Given the description of an element on the screen output the (x, y) to click on. 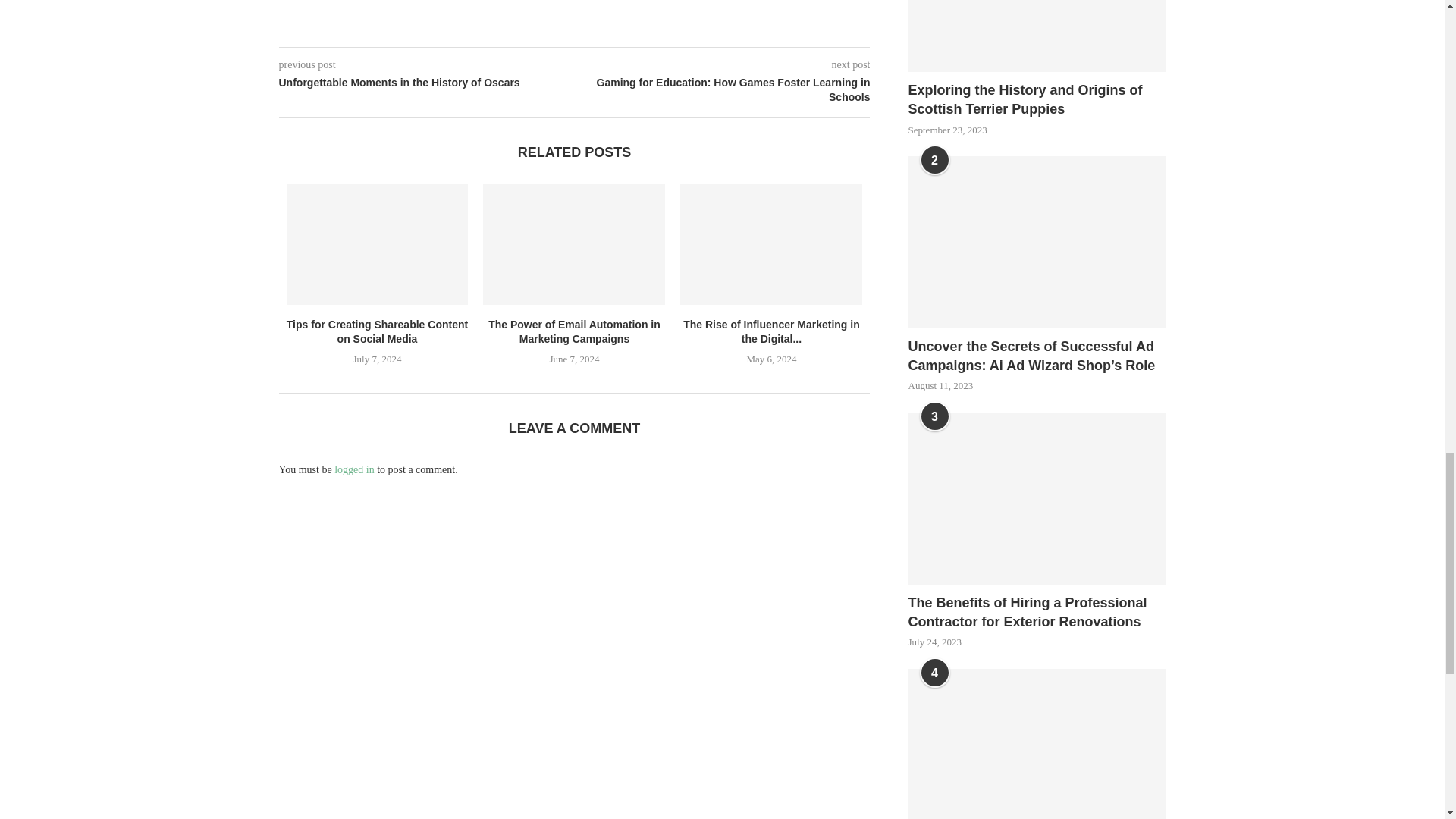
Tips for Creating Shareable Content on Social Media (377, 243)
Unforgettable Moments in the History of Oscars (427, 83)
Gaming for Education: How Games Foster Learning in Schools (722, 90)
The Rise of Influencer Marketing in the Digital Age (770, 243)
The Power of Email Automation in Marketing Campaigns (574, 243)
Tips for Creating Shareable Content on Social Media (376, 331)
